Given the description of an element on the screen output the (x, y) to click on. 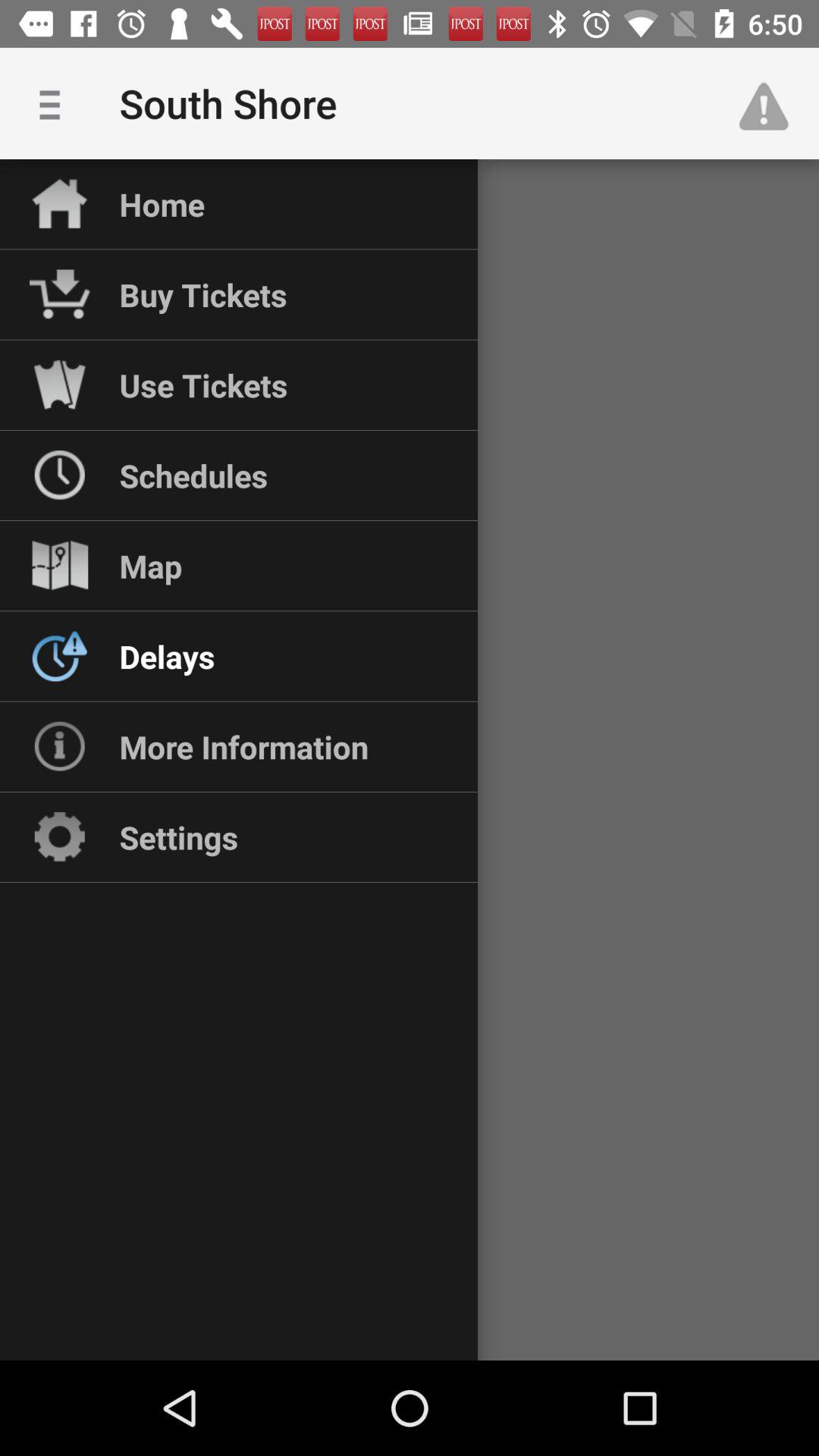
scroll to schedules icon (193, 475)
